Given the description of an element on the screen output the (x, y) to click on. 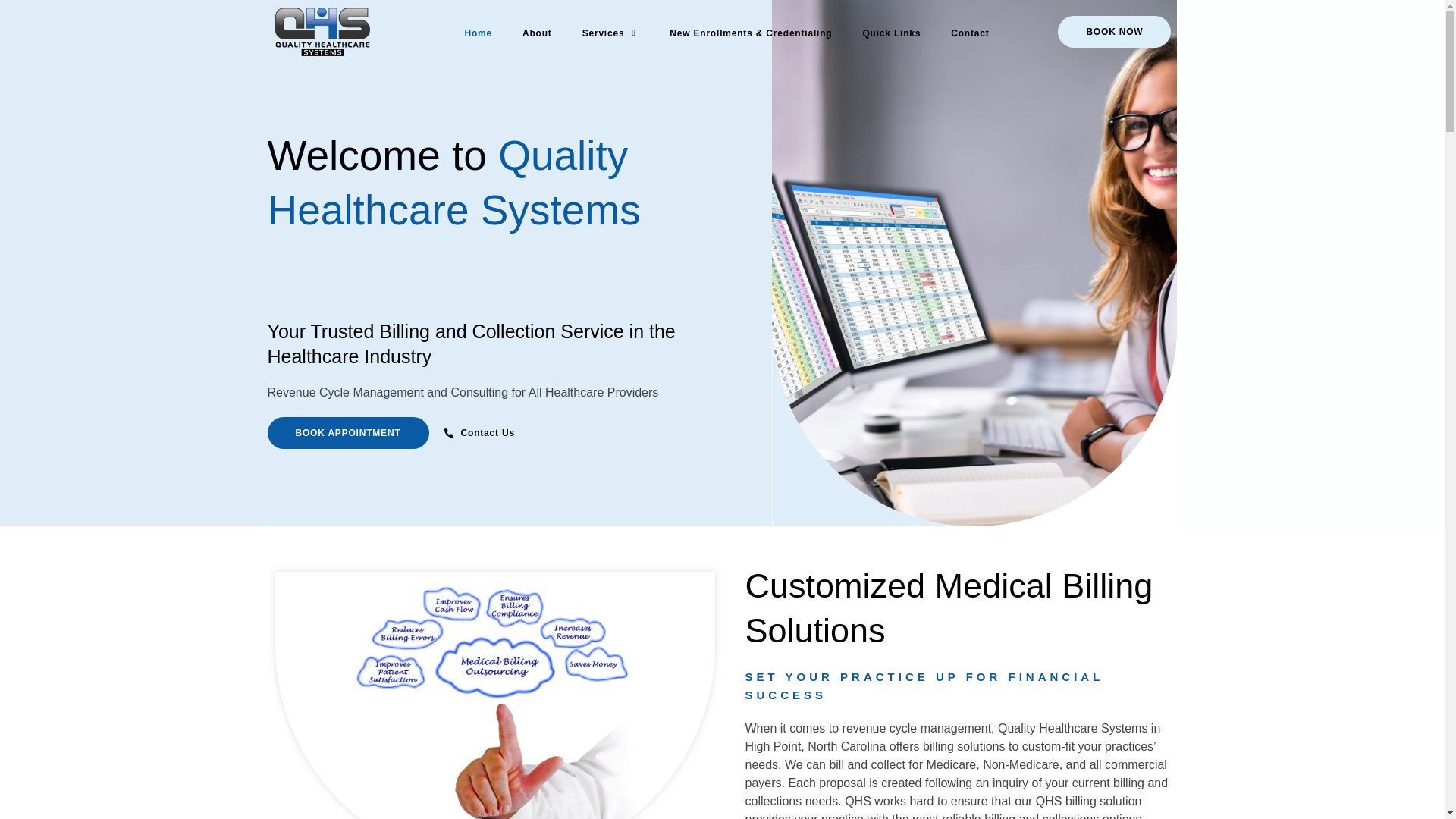
Contact Us (498, 433)
Contact Us (479, 438)
Services (611, 1)
Contact (970, 13)
SET YOUR PRACTICE UP FOR FINANCIAL SUCCESS (960, 686)
Welcome to Quality Healthcare Systems (491, 215)
Quick Links (891, 12)
BOOK NOW (1114, 20)
BOOK APPOINTMENT (347, 433)
BOOK NOW (1114, 31)
Customized Medical Billing Solutions (960, 608)
BOOK APPOINTMENT (347, 437)
